Given the description of an element on the screen output the (x, y) to click on. 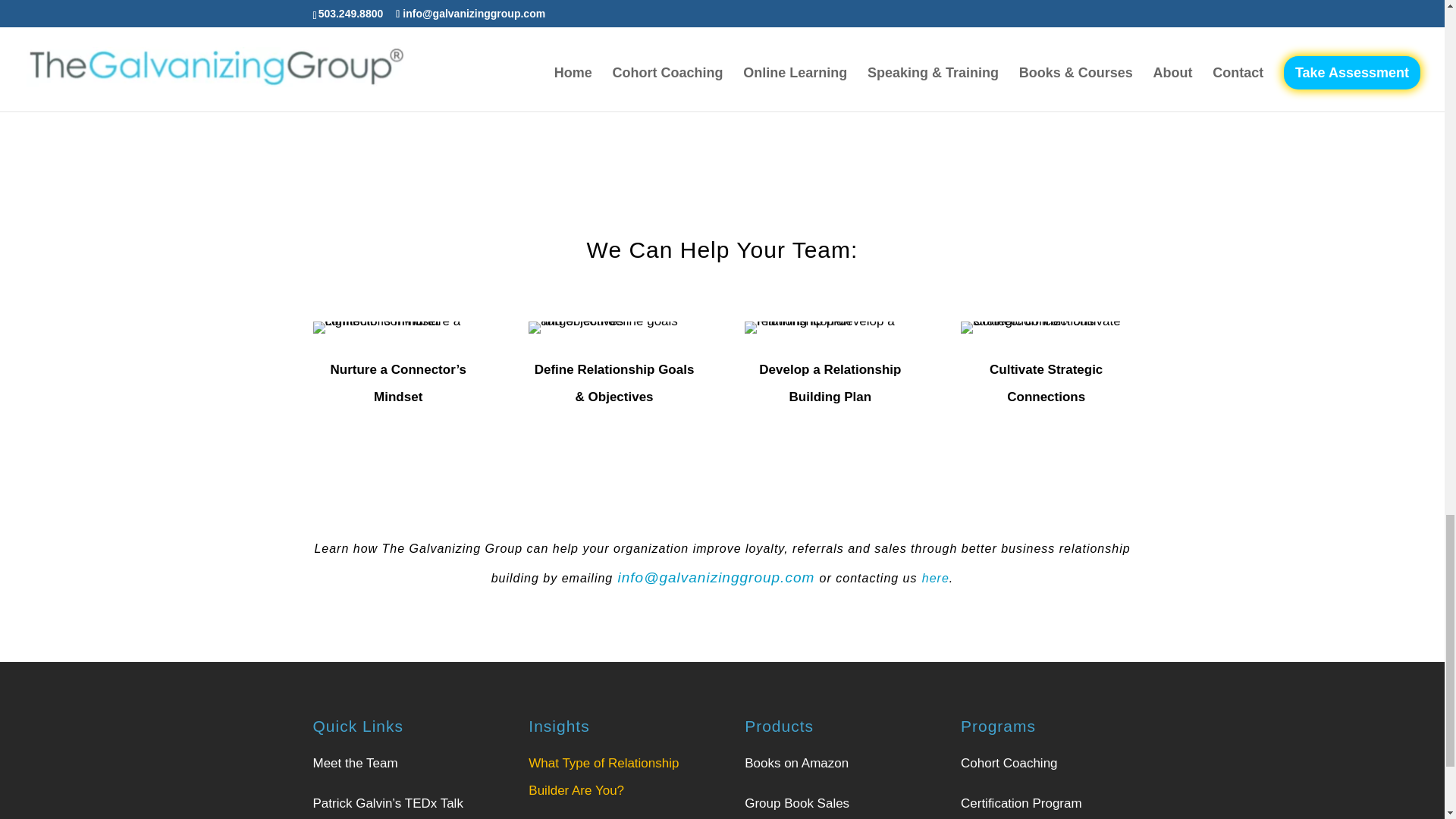
Cohort Coaching (1009, 762)
What Type of Relationship Builder Are You? (603, 776)
Certification Program (1020, 803)
here (935, 577)
Meet the Team (355, 762)
Books on Amazon (796, 762)
Group Book Sales (796, 803)
